Given the description of an element on the screen output the (x, y) to click on. 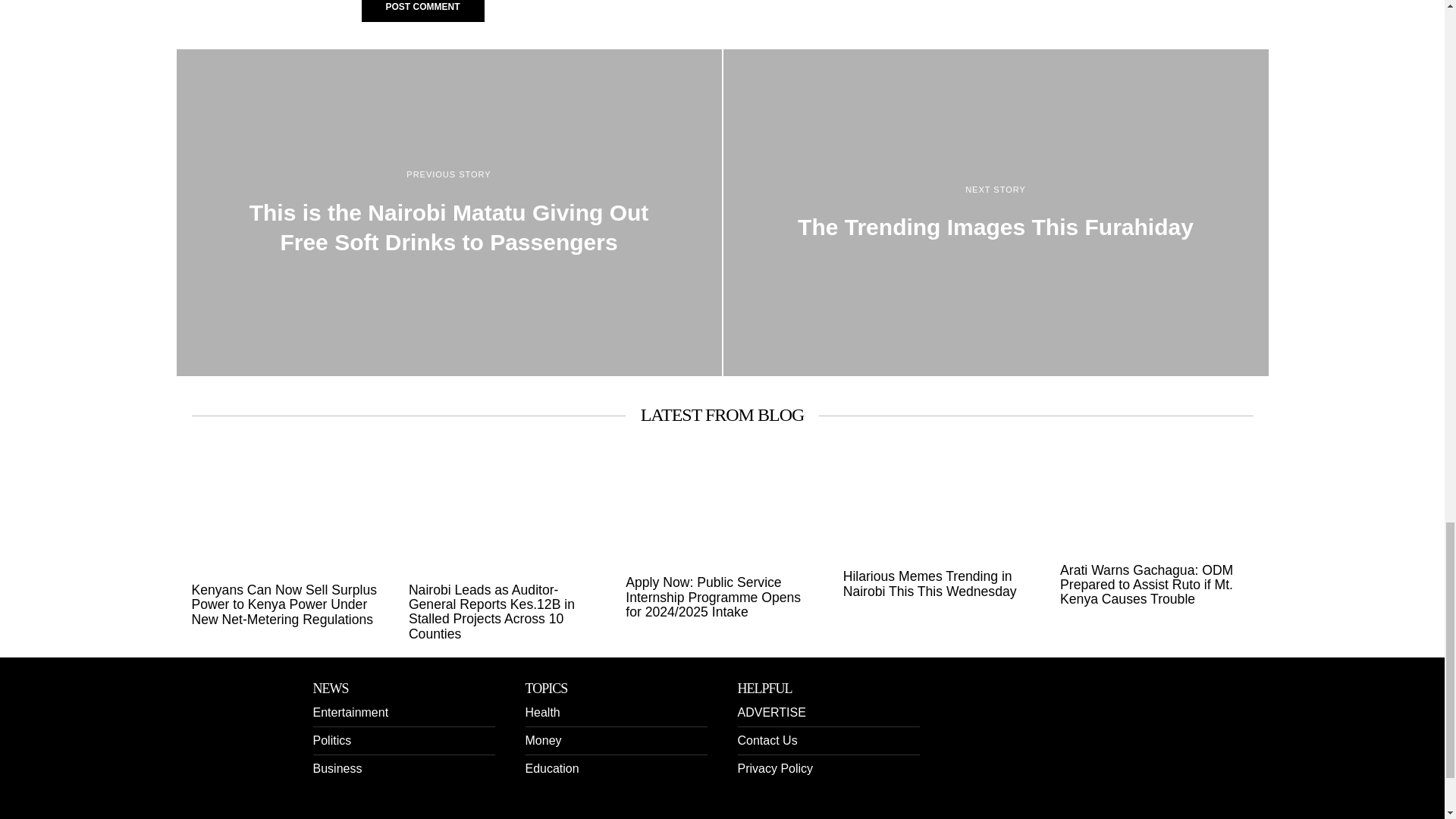
Politics (331, 739)
Entertainment (350, 712)
Post Comment (422, 11)
Business (337, 768)
Post Comment (422, 11)
Hilarious Memes Trending in Nairobi This This Wednesday (939, 583)
Health (541, 712)
